Given the description of an element on the screen output the (x, y) to click on. 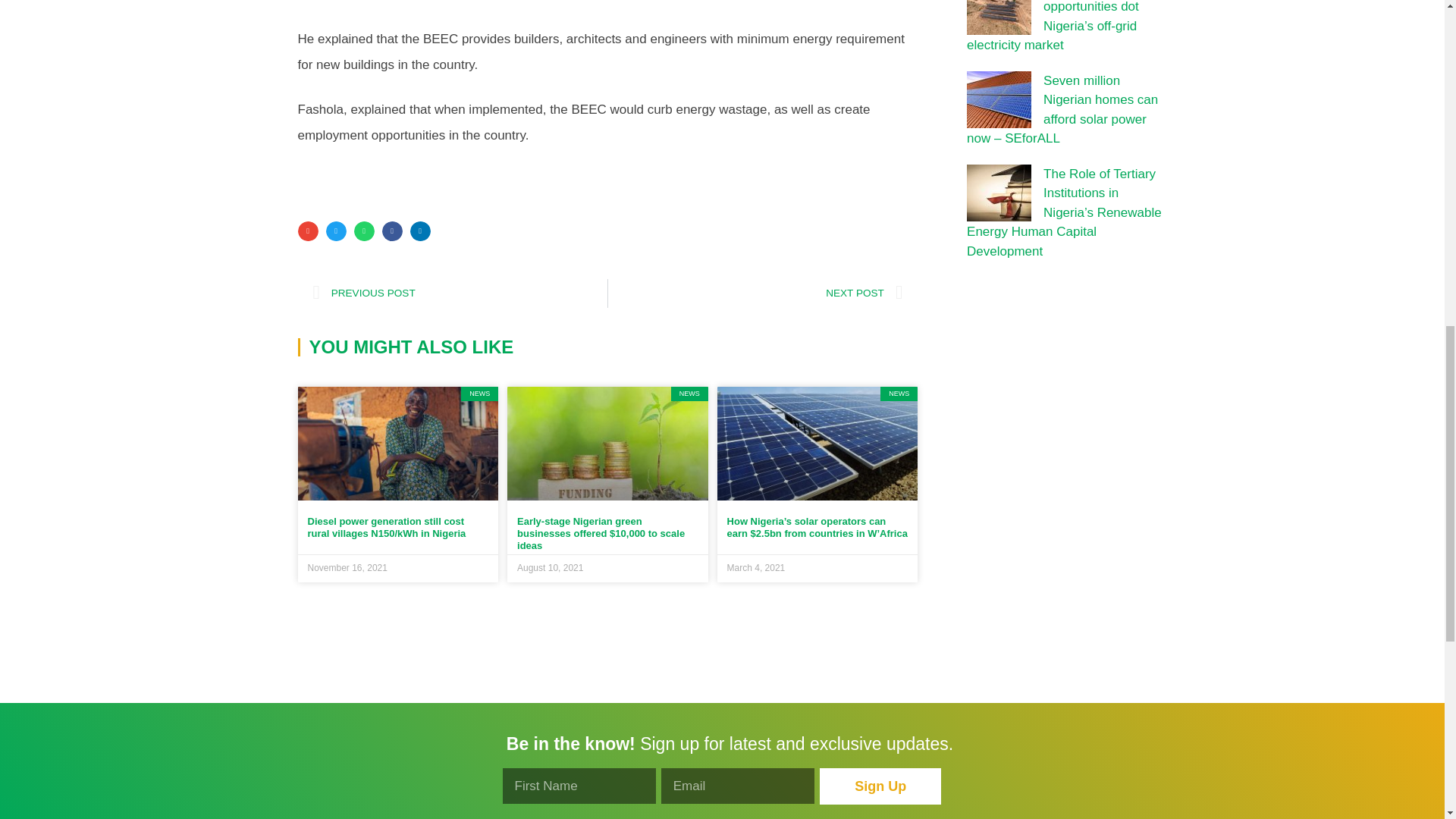
PREVIOUS POST (460, 293)
NEXT POST (755, 293)
